Given the description of an element on the screen output the (x, y) to click on. 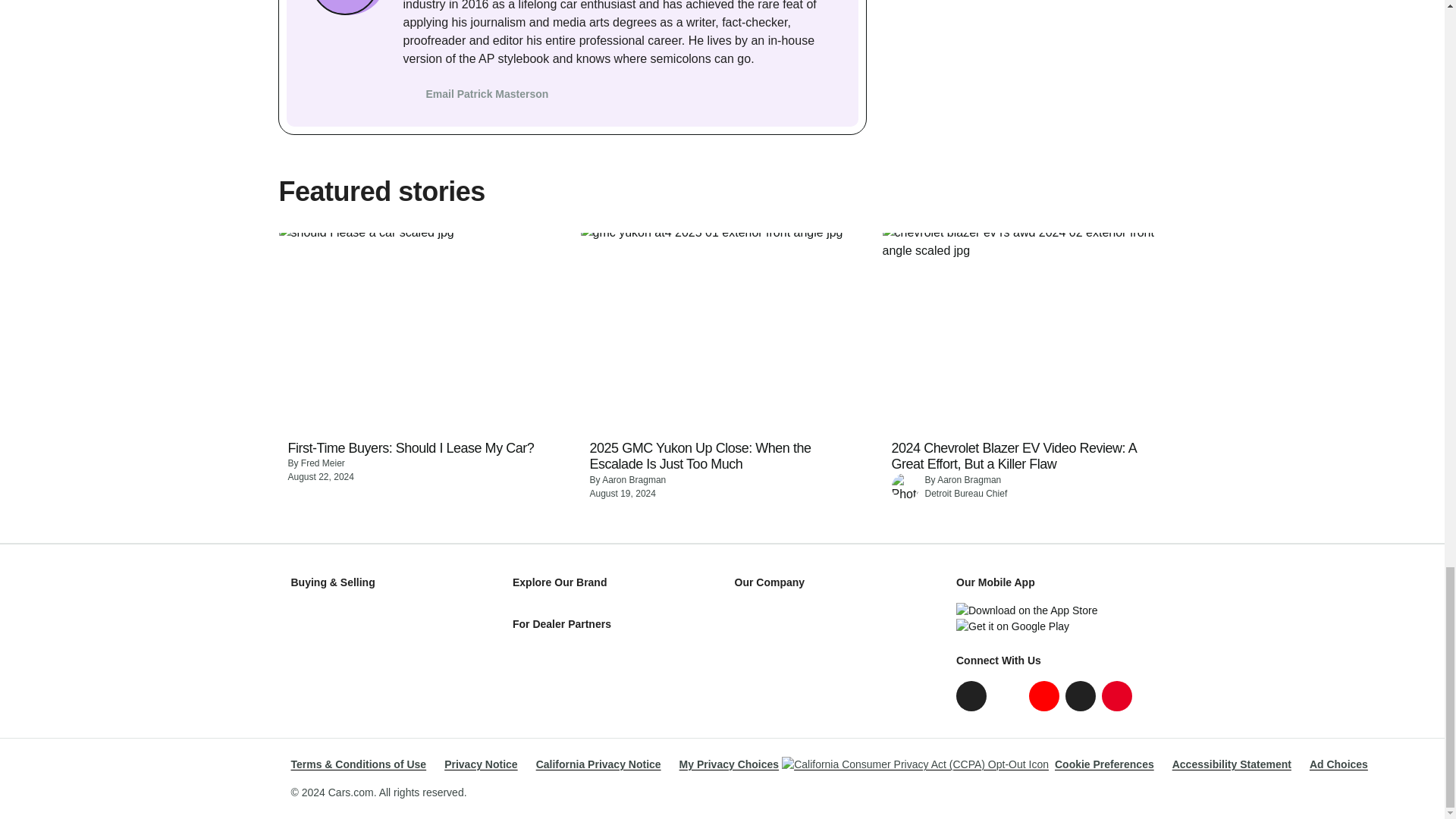
2025 GMC Yukon Up Close: When the Escalade Is Just Too Much (722, 456)
First-Time Buyers: Should I Lease My Car? (411, 448)
